Given the description of an element on the screen output the (x, y) to click on. 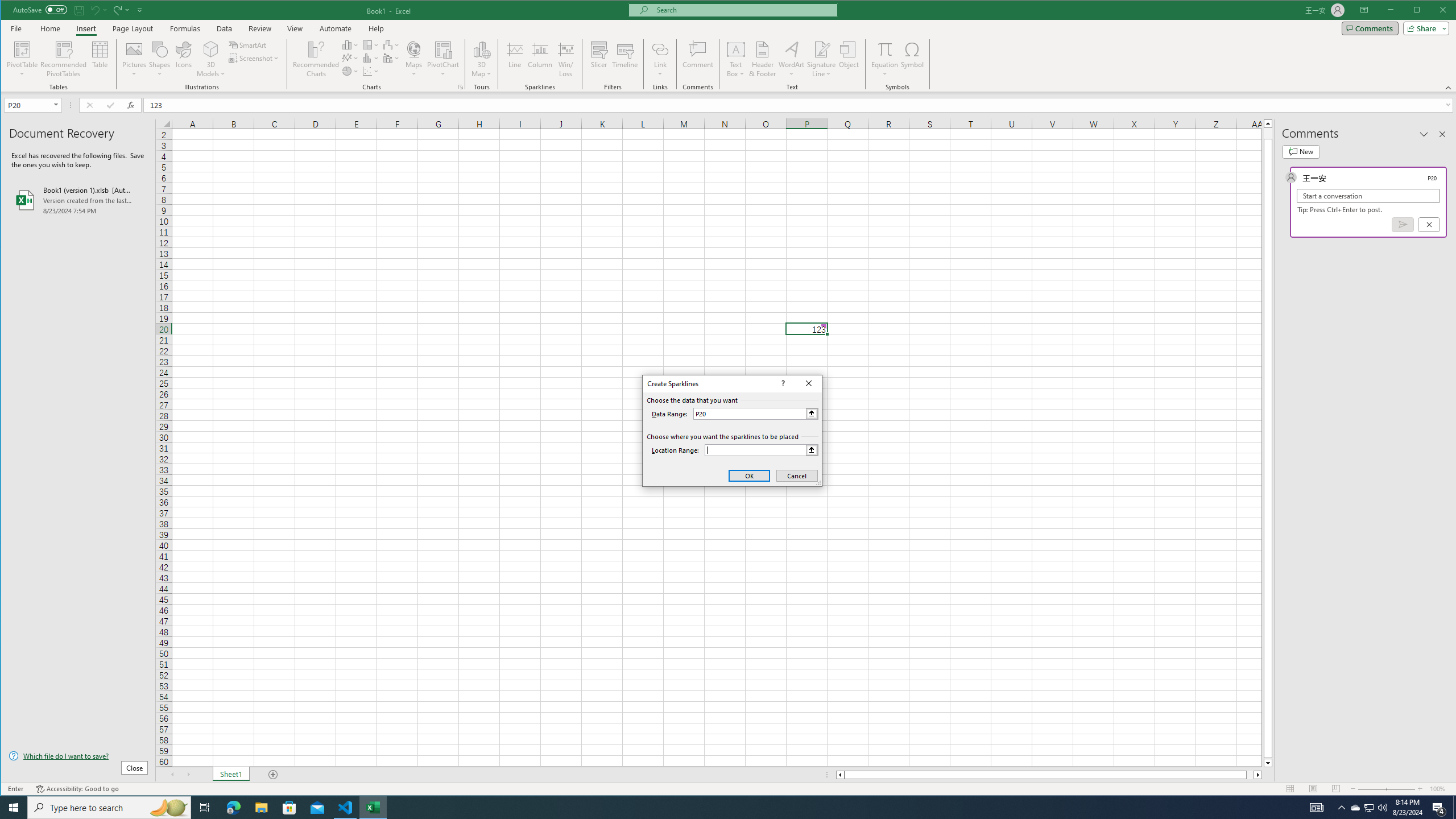
Insert (85, 28)
Cancel (797, 475)
Scroll Left (172, 774)
Page right (1249, 774)
Equation (884, 59)
Location Range (761, 449)
Maximize (1432, 11)
OK (749, 475)
